Given the description of an element on the screen output the (x, y) to click on. 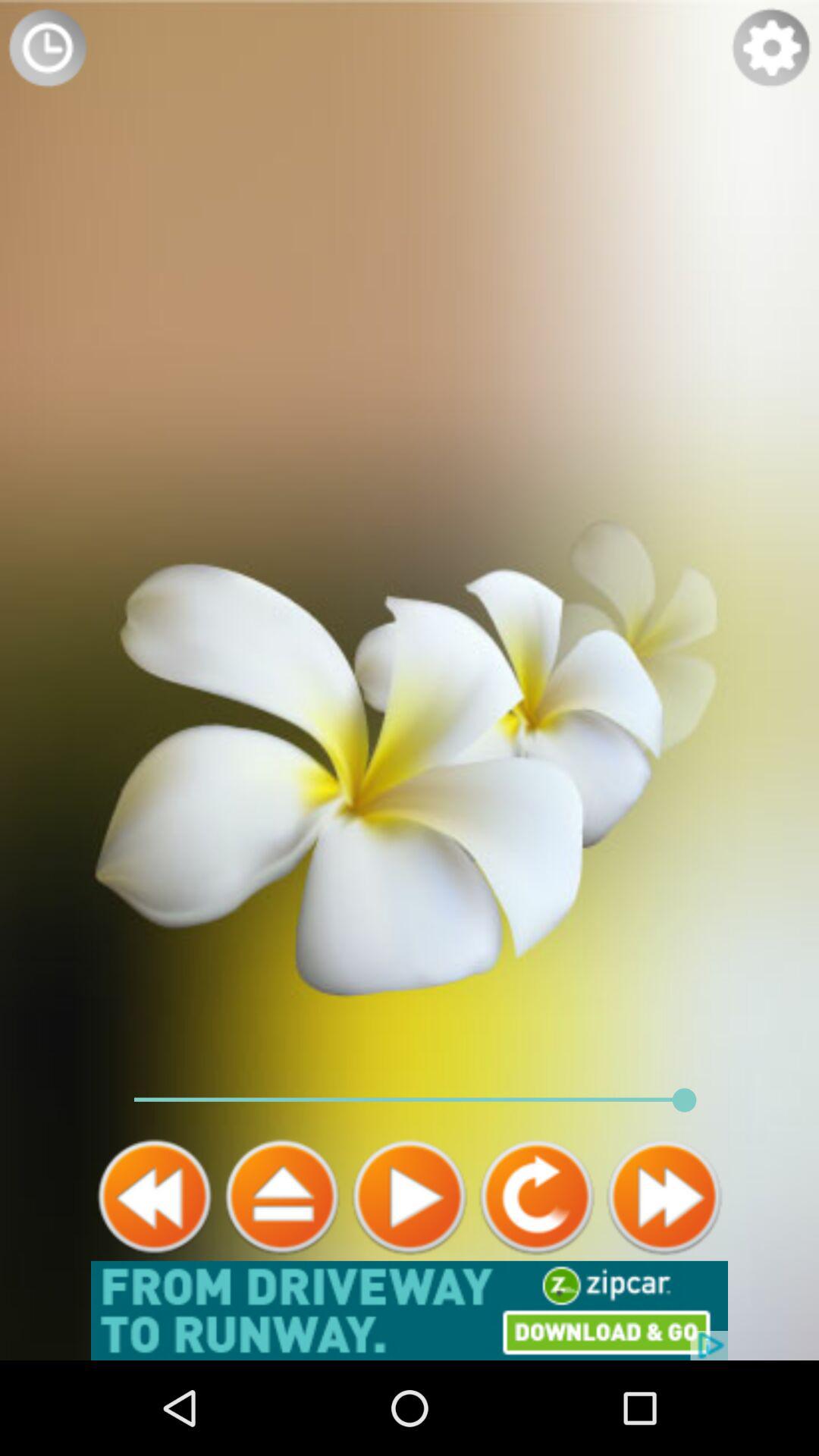
pressing this would open up more info for what is playing (281, 1196)
